Given the description of an element on the screen output the (x, y) to click on. 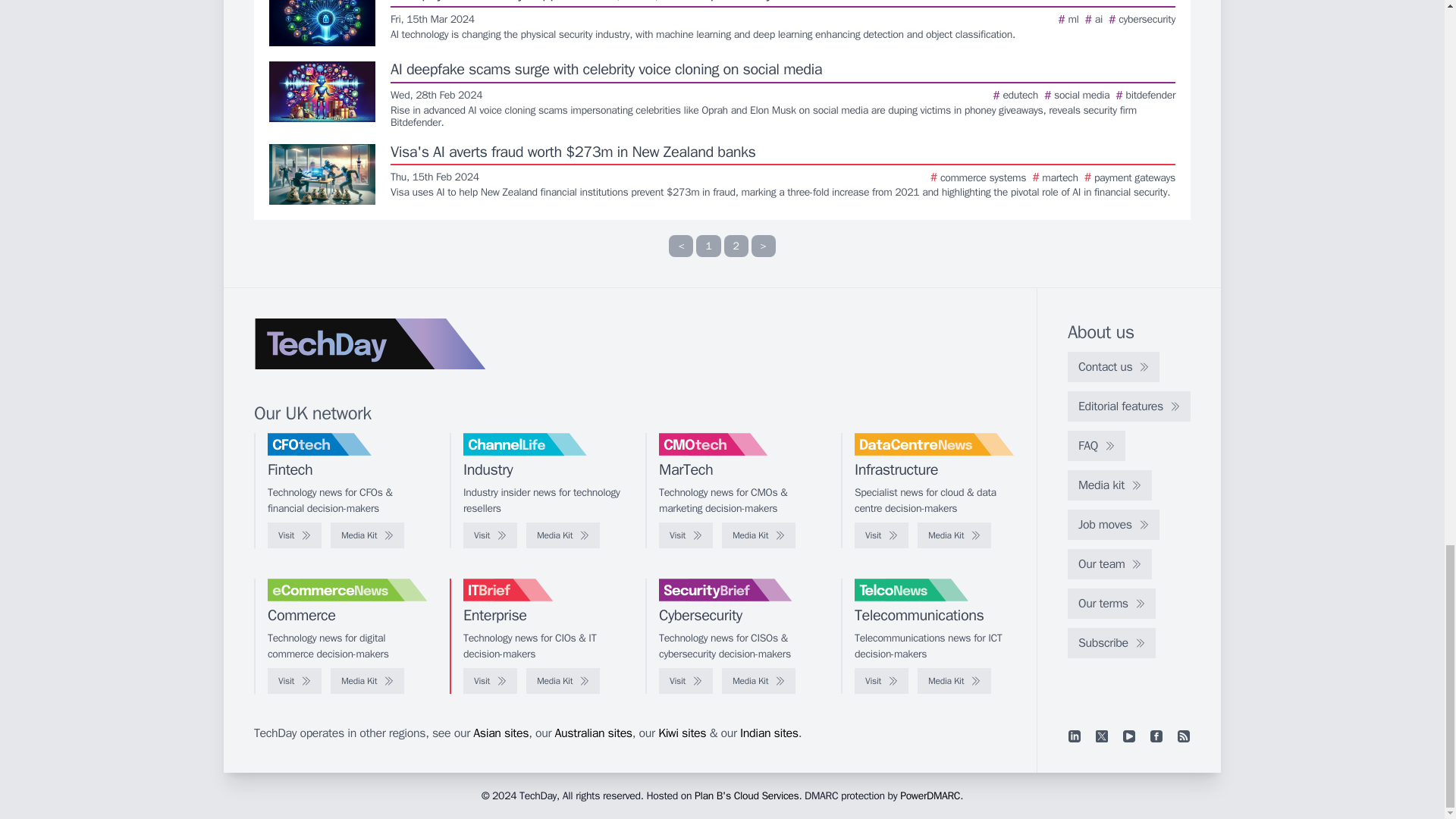
Media Kit (367, 534)
1 (707, 246)
Visit (489, 534)
Visit (294, 534)
2 (735, 246)
Media Kit (562, 534)
